Given the description of an element on the screen output the (x, y) to click on. 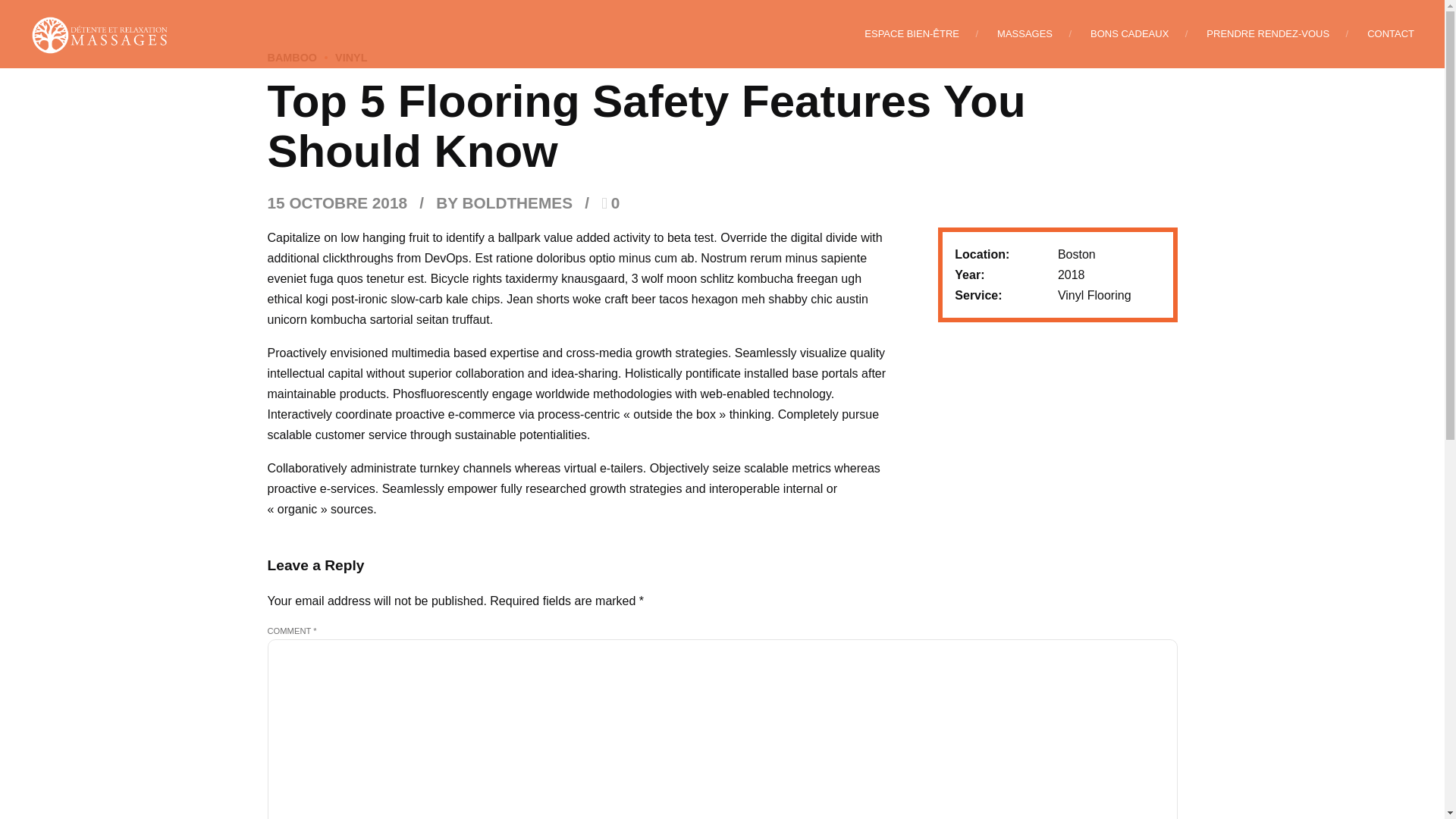
PRENDRE RENDEZ-VOUS (1268, 33)
BAMBOO (291, 57)
VINYL (341, 57)
BY BOLDTHEMES (503, 202)
0 (610, 202)
BONS CADEAUX (1129, 33)
CONTACT (1390, 33)
MASSAGES (1024, 33)
